Given the description of an element on the screen output the (x, y) to click on. 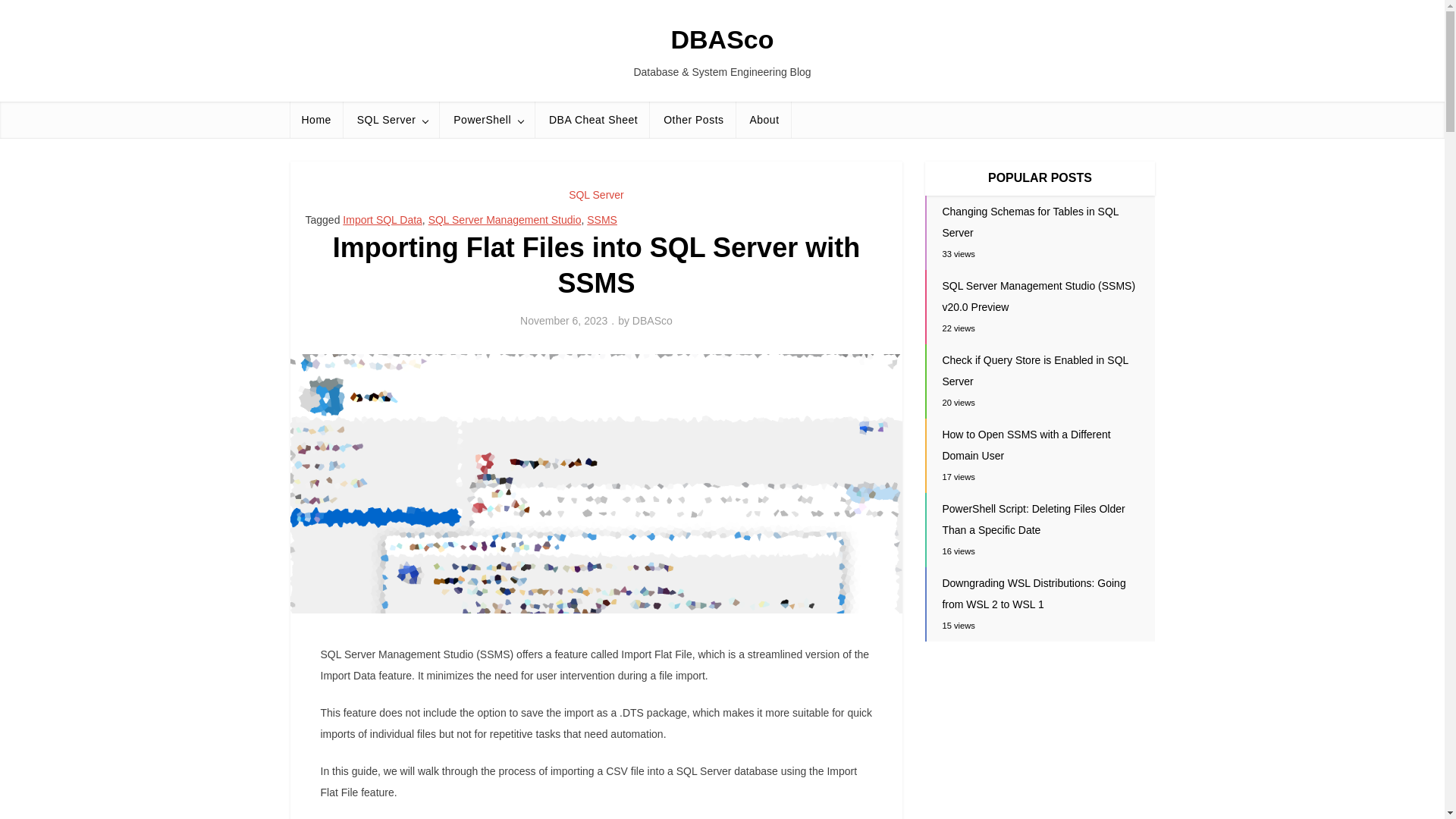
Home (315, 119)
Check if Query Store is Enabled in SQL Server (1034, 370)
PowerShell (488, 119)
SQL Server Management Studio (504, 219)
Changing Schemas for Tables in SQL Server (1030, 222)
PowerShell Script: Deleting Files Older Than a Specific Date (1033, 519)
DBASco (721, 39)
DBA Cheat Sheet (593, 119)
How to Open SSMS with a Different Domain User (1025, 444)
Downgrading WSL Distributions: Going from WSL 2 to WSL 1 (1033, 593)
SSMS (601, 219)
DBASco (651, 320)
Other Posts (693, 119)
SQL Server (596, 194)
Import SQL Data (382, 219)
